Given the description of an element on the screen output the (x, y) to click on. 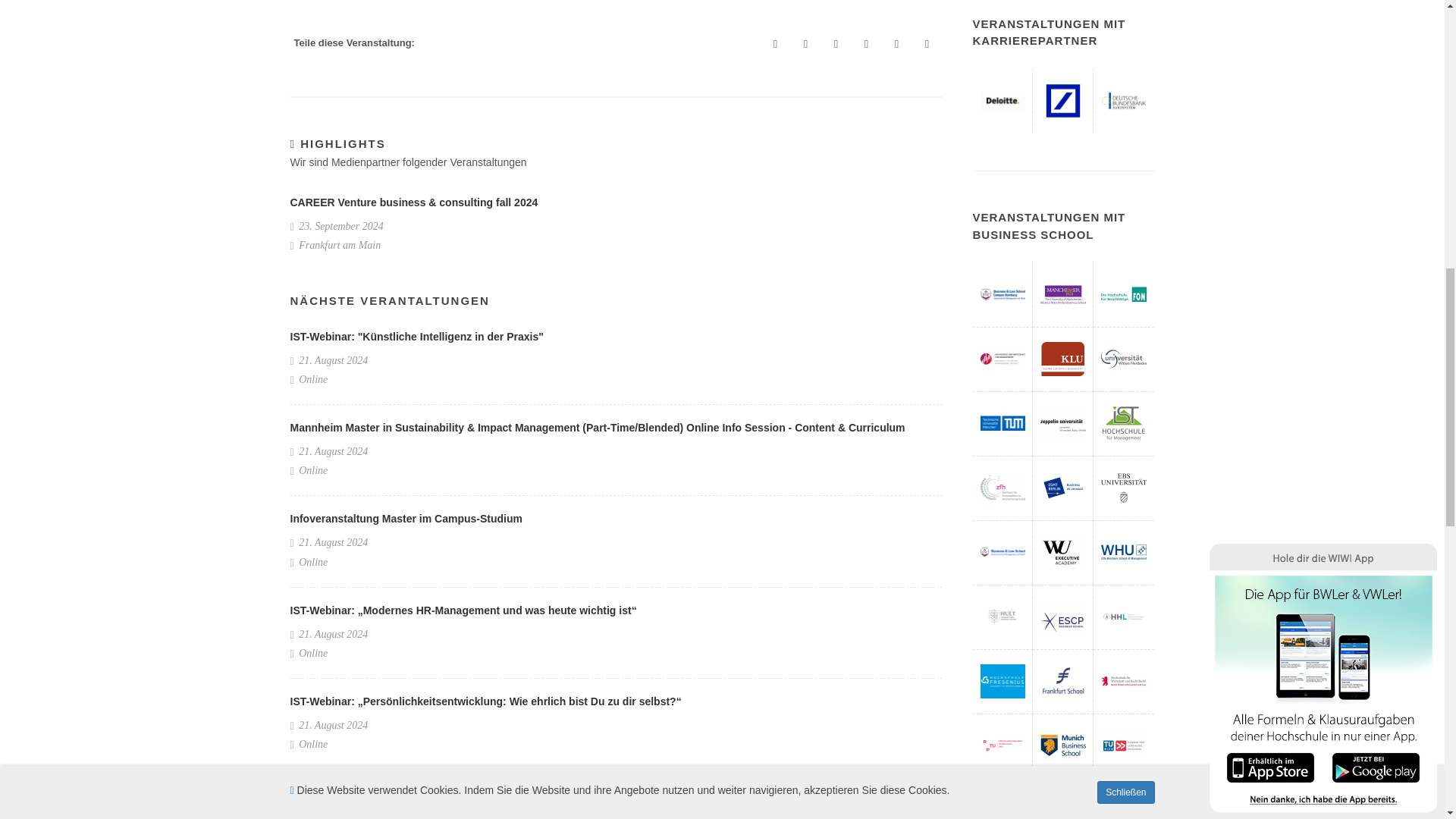
ESMT Berlin (1063, 487)
FOM (1123, 294)
EBS (1123, 487)
IST (1123, 423)
zfh (1002, 487)
BSP Campus Hamburg (1002, 294)
HdWM (1002, 358)
ZU (1063, 423)
Deutsche Bundesbank (1123, 100)
Deutsche Bank (1063, 100)
